Given the description of an element on the screen output the (x, y) to click on. 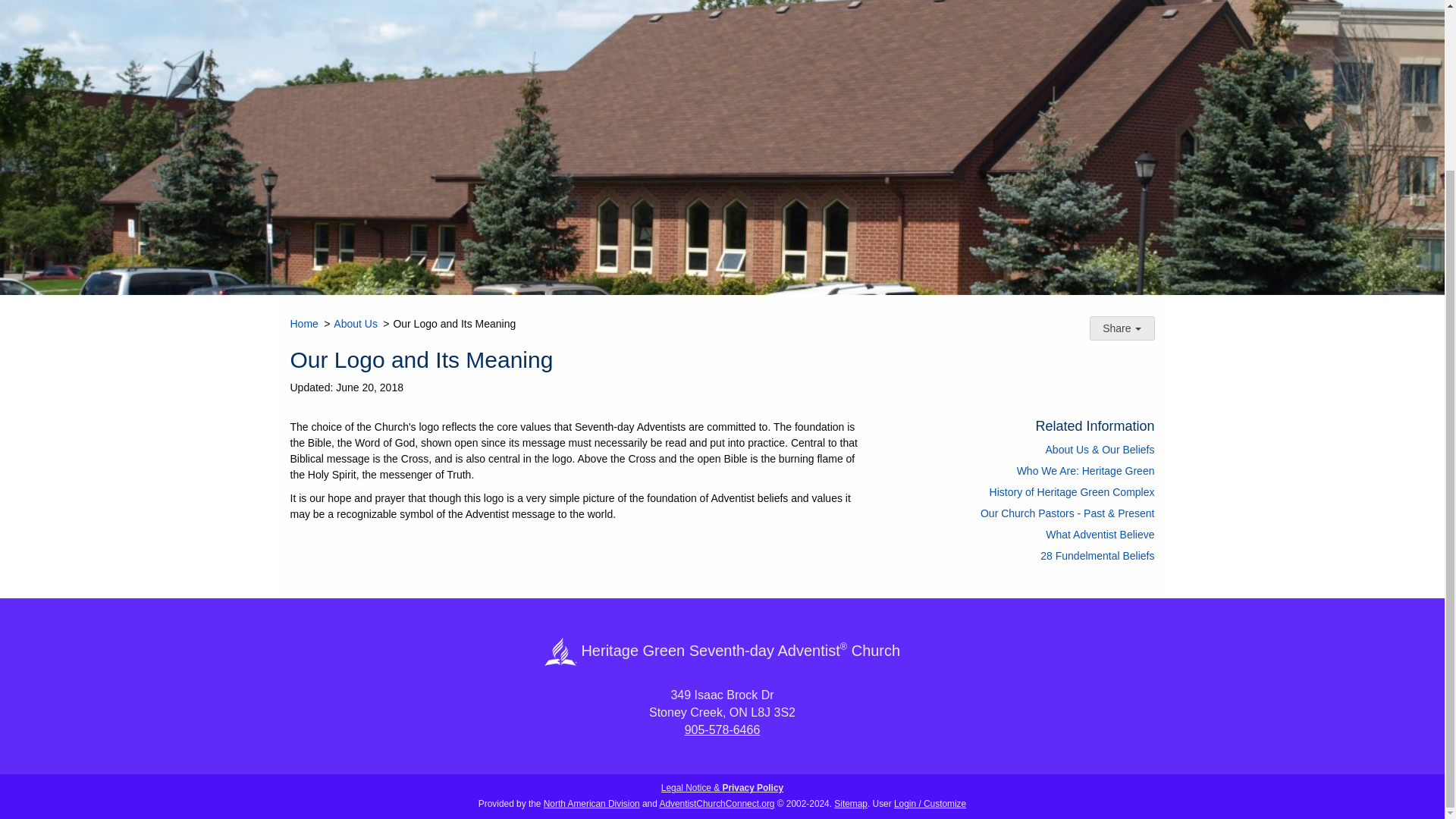
Share (1121, 328)
About Us (355, 324)
Home (303, 324)
